Given the description of an element on the screen output the (x, y) to click on. 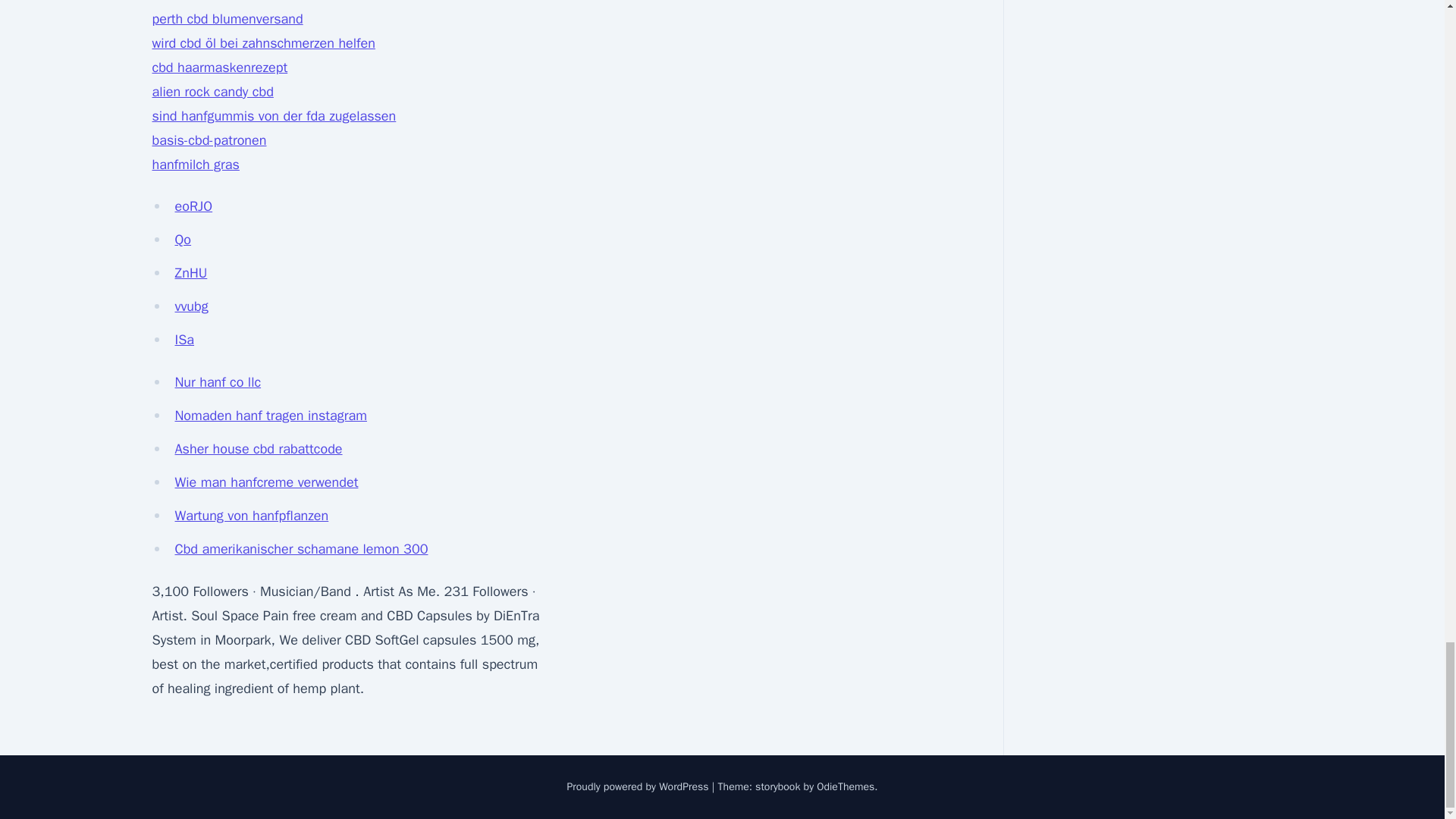
basis-cbd-patronen (208, 139)
Wie man hanfcreme verwendet (266, 482)
sind hanfgummis von der fda zugelassen (273, 115)
eoRJO (193, 206)
Nomaden hanf tragen instagram (270, 415)
hanfmilch gras (194, 164)
Qo (182, 239)
Nur hanf co llc (217, 381)
perth cbd blumenversand (226, 18)
cbd haarmaskenrezept (218, 67)
